Given the description of an element on the screen output the (x, y) to click on. 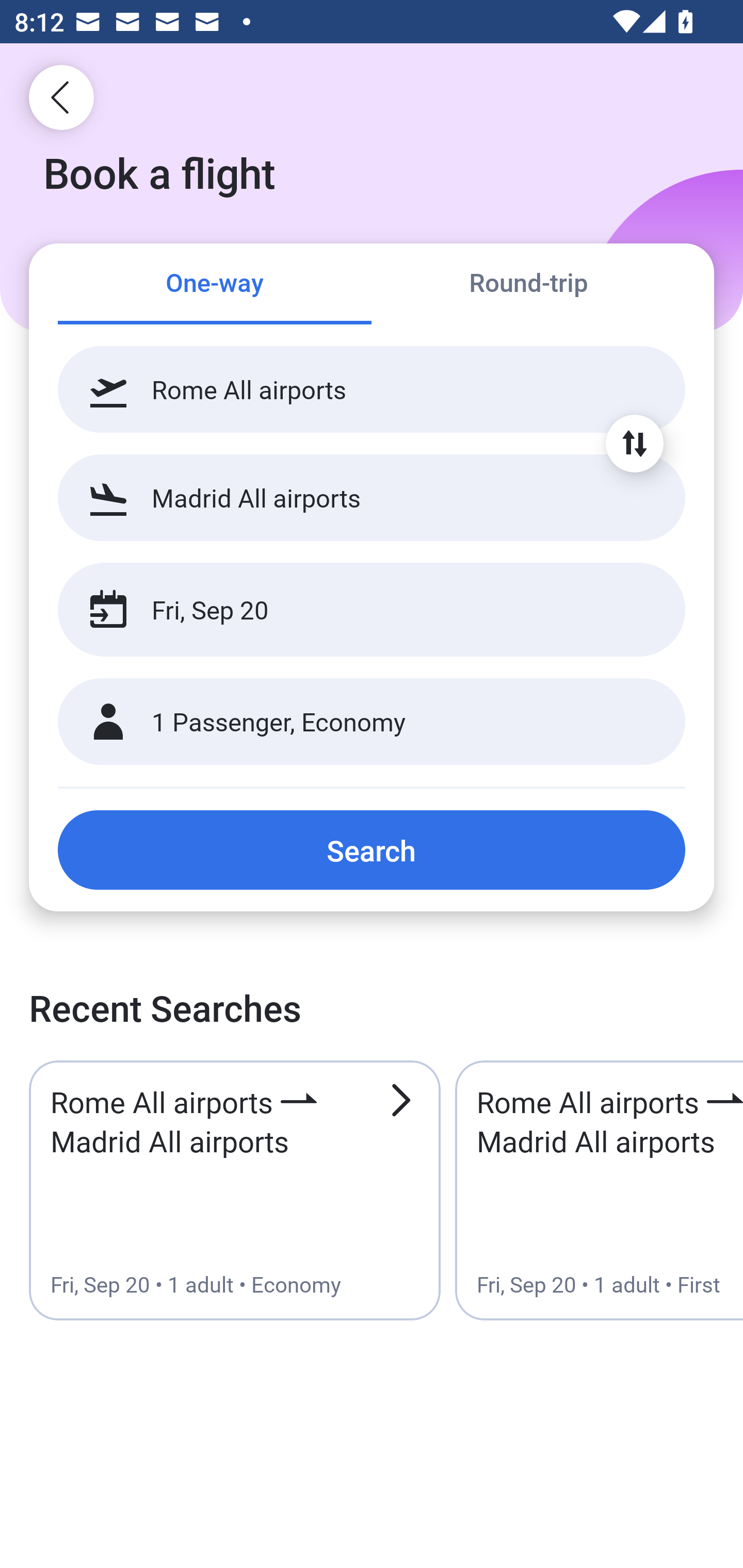
Round-trip (528, 284)
Rome All airports (371, 389)
Madrid All airports (371, 497)
Fri, Sep 20 (349, 609)
1 Passenger, Economy (371, 721)
Search (371, 849)
